Given the description of an element on the screen output the (x, y) to click on. 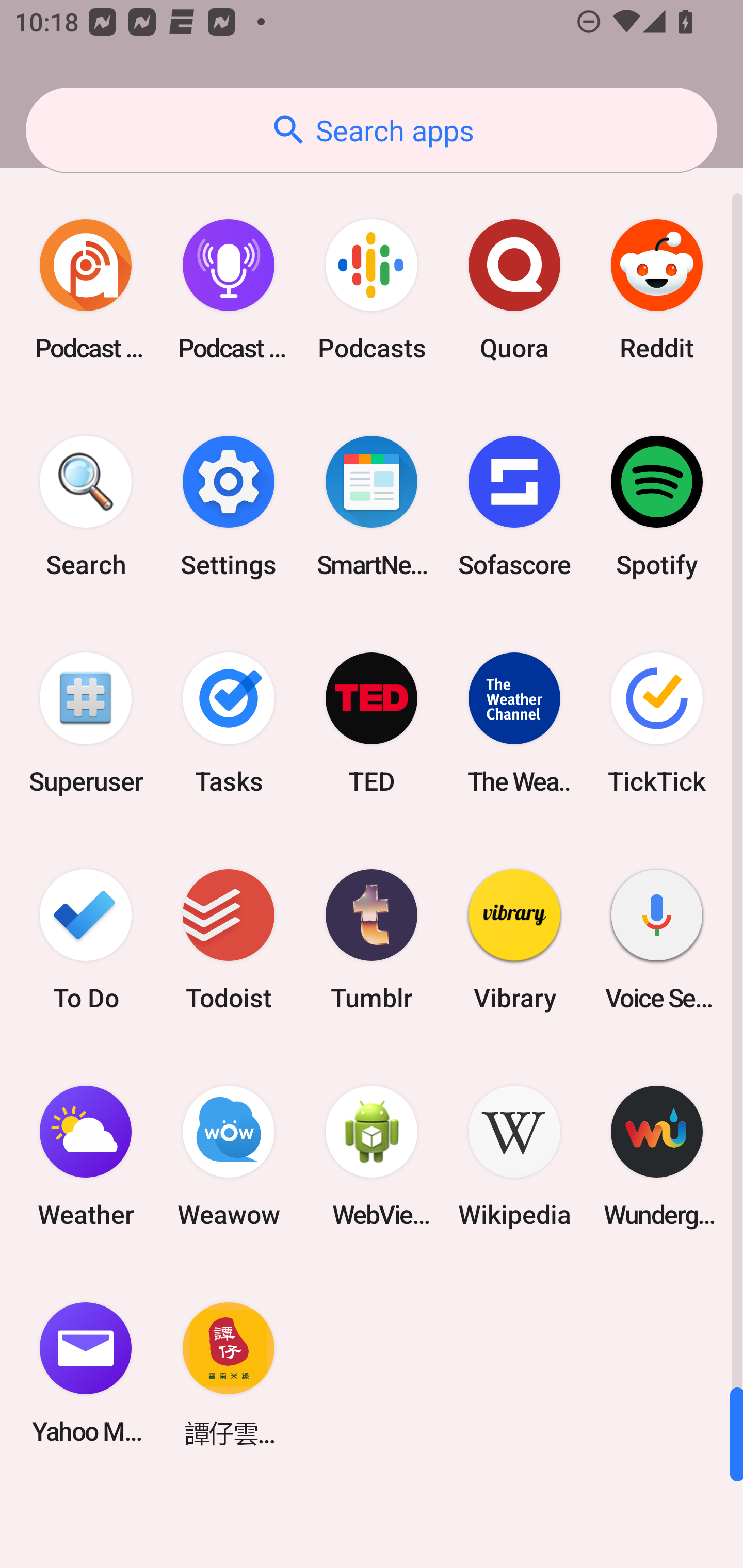
  Search apps (371, 130)
Podcast Addict (85, 289)
Podcast Player (228, 289)
Podcasts (371, 289)
Quora (514, 289)
Reddit (656, 289)
Search (85, 506)
Settings (228, 506)
SmartNews (371, 506)
Sofascore (514, 506)
Spotify (656, 506)
Superuser (85, 722)
Tasks (228, 722)
TED (371, 722)
The Weather Channel (514, 722)
TickTick (656, 722)
To Do (85, 939)
Todoist (228, 939)
Tumblr (371, 939)
Vibrary (514, 939)
Voice Search (656, 939)
Weather (85, 1156)
Weawow (228, 1156)
WebView Browser Tester (371, 1156)
Wikipedia (514, 1156)
Wunderground (656, 1156)
Yahoo Mail (85, 1373)
譚仔雲南米線 (228, 1373)
